Given the description of an element on the screen output the (x, y) to click on. 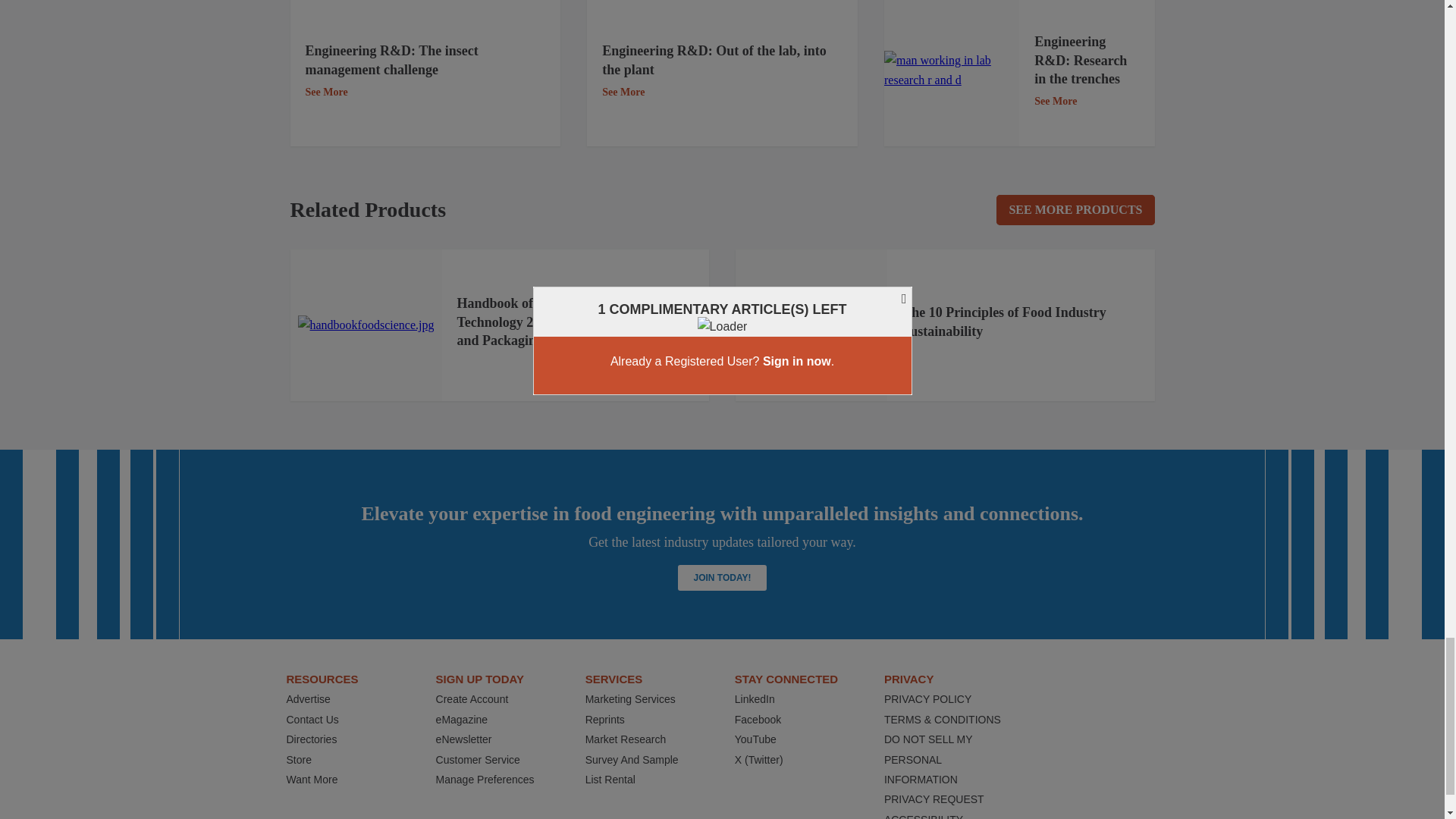
R and D ft (951, 70)
food-book.gif (810, 324)
handbookfoodscience.jpg (365, 324)
